Given the description of an element on the screen output the (x, y) to click on. 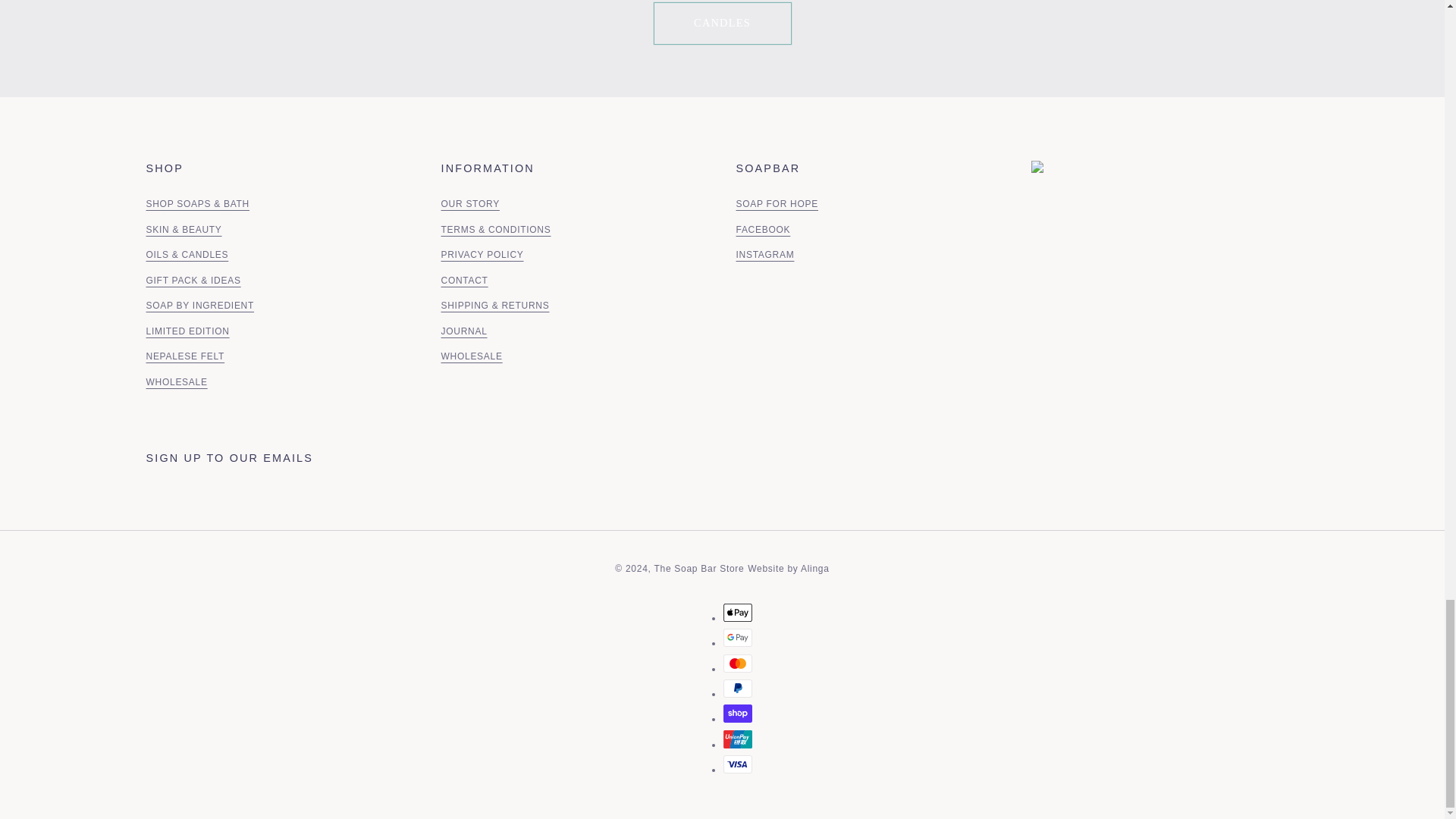
Shop Pay (737, 713)
Google Pay (737, 637)
PayPal (737, 688)
Apple Pay (737, 612)
Mastercard (737, 663)
Visa (737, 764)
Union Pay (737, 739)
